Given the description of an element on the screen output the (x, y) to click on. 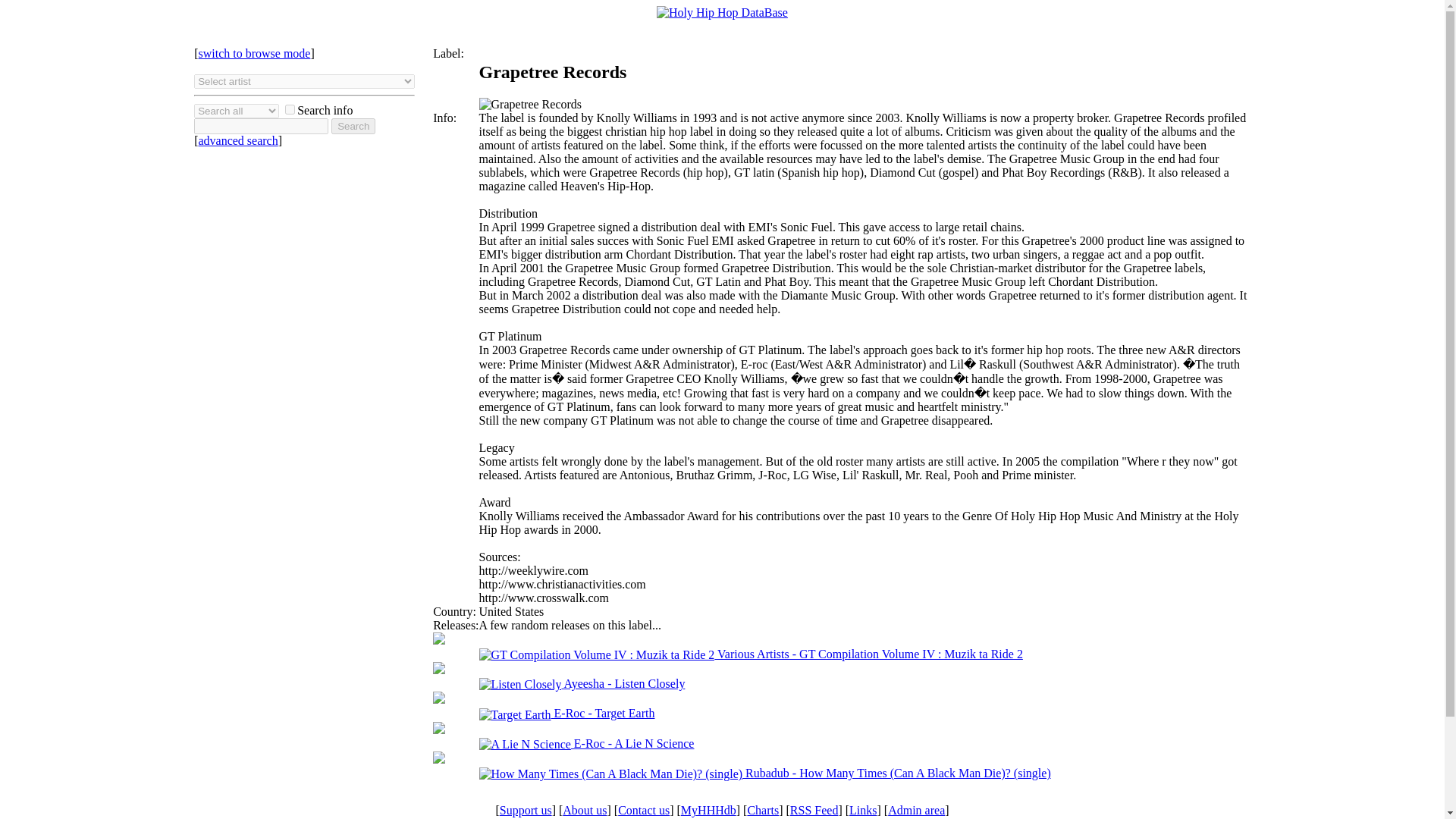
E-Roc - Target Earth (567, 712)
Admin area (916, 809)
switch to browse mode (254, 52)
Various Artists - GT Compilation Volume IV : Muzik ta Ride 2 (751, 653)
E-Roc - A Lie N Science (586, 743)
Ayeesha - Listen Closely (582, 683)
advanced search (238, 140)
Search (353, 125)
Links (862, 809)
Support us (525, 809)
Search (353, 125)
About us (584, 809)
1 (290, 109)
RSS Feed (814, 809)
Contact us (643, 809)
